Given the description of an element on the screen output the (x, y) to click on. 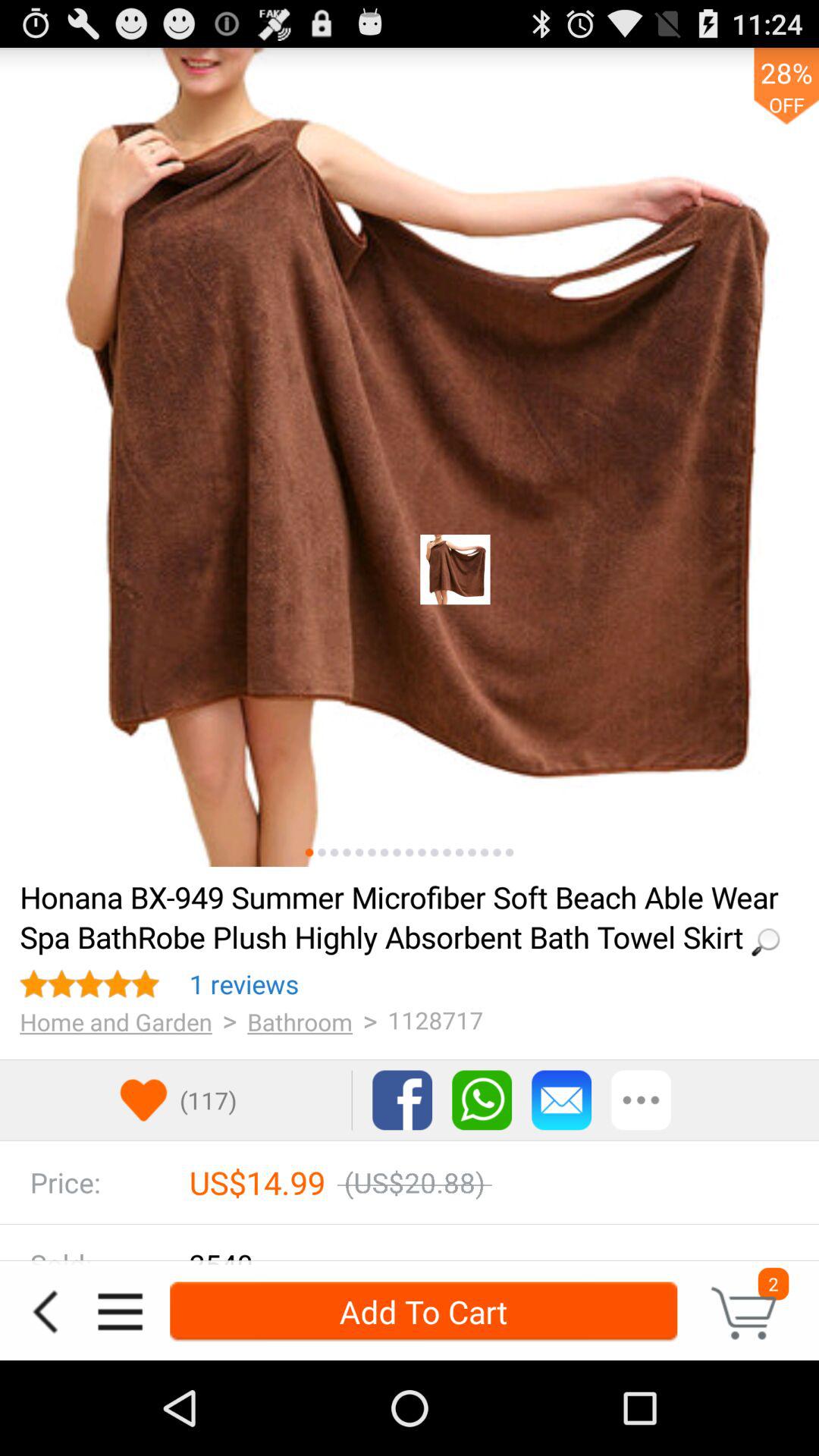
select page 14 (472, 852)
